Given the description of an element on the screen output the (x, y) to click on. 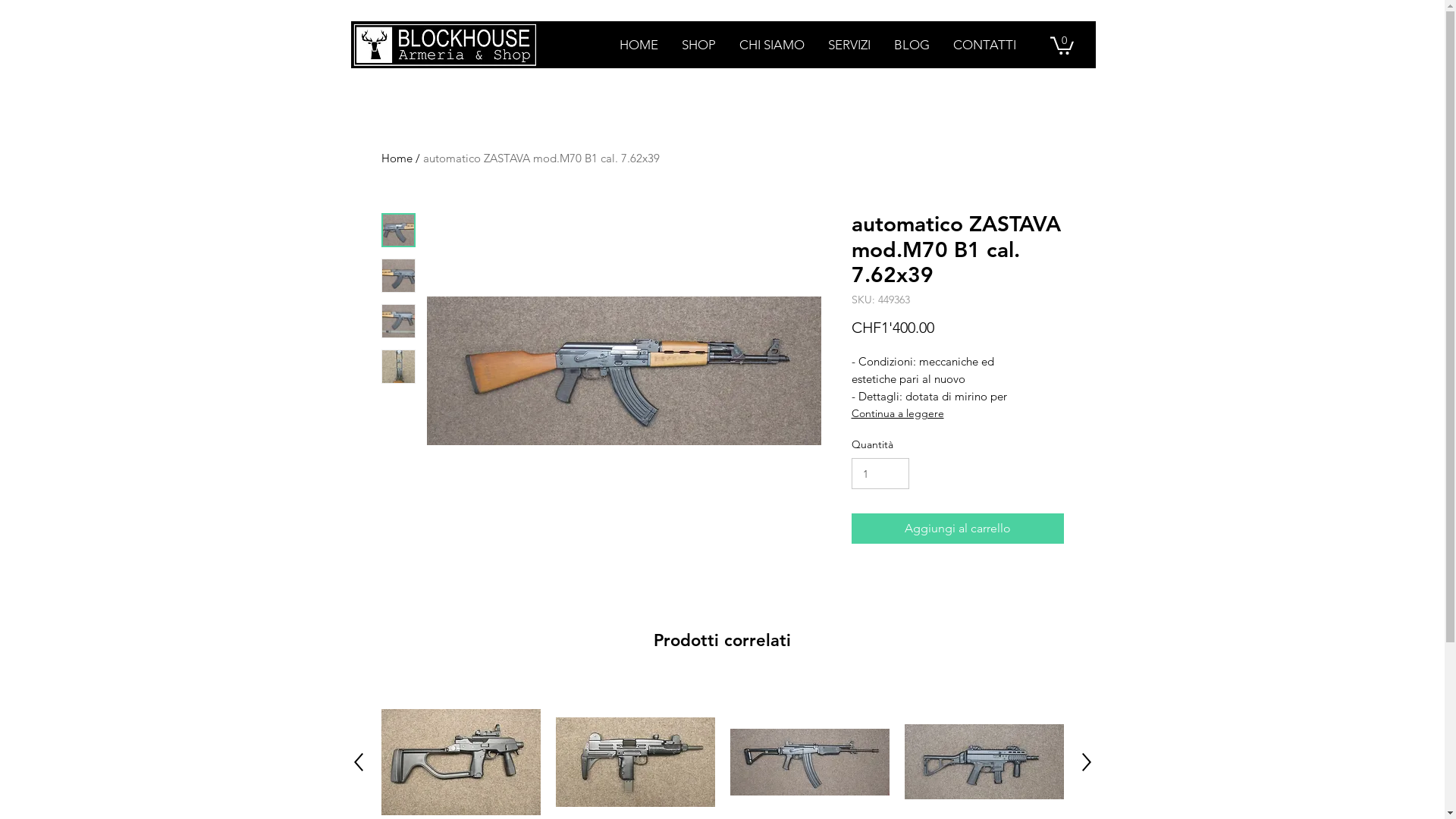
SERVIZI Element type: text (848, 44)
HOME Element type: text (637, 44)
0 Element type: text (1061, 44)
SHOP Element type: text (697, 44)
automatico ZASTAVA mod.M70 B1 cal. 7.62x39 Element type: text (541, 157)
Aggiungi al carrello Element type: text (956, 528)
bh_wix.jpg Element type: hover (444, 44)
CHI SIAMO Element type: text (770, 44)
Home Element type: text (395, 157)
Continua a leggere Element type: text (956, 412)
BLOG Element type: text (910, 44)
CONTATTI Element type: text (983, 44)
